Given the description of an element on the screen output the (x, y) to click on. 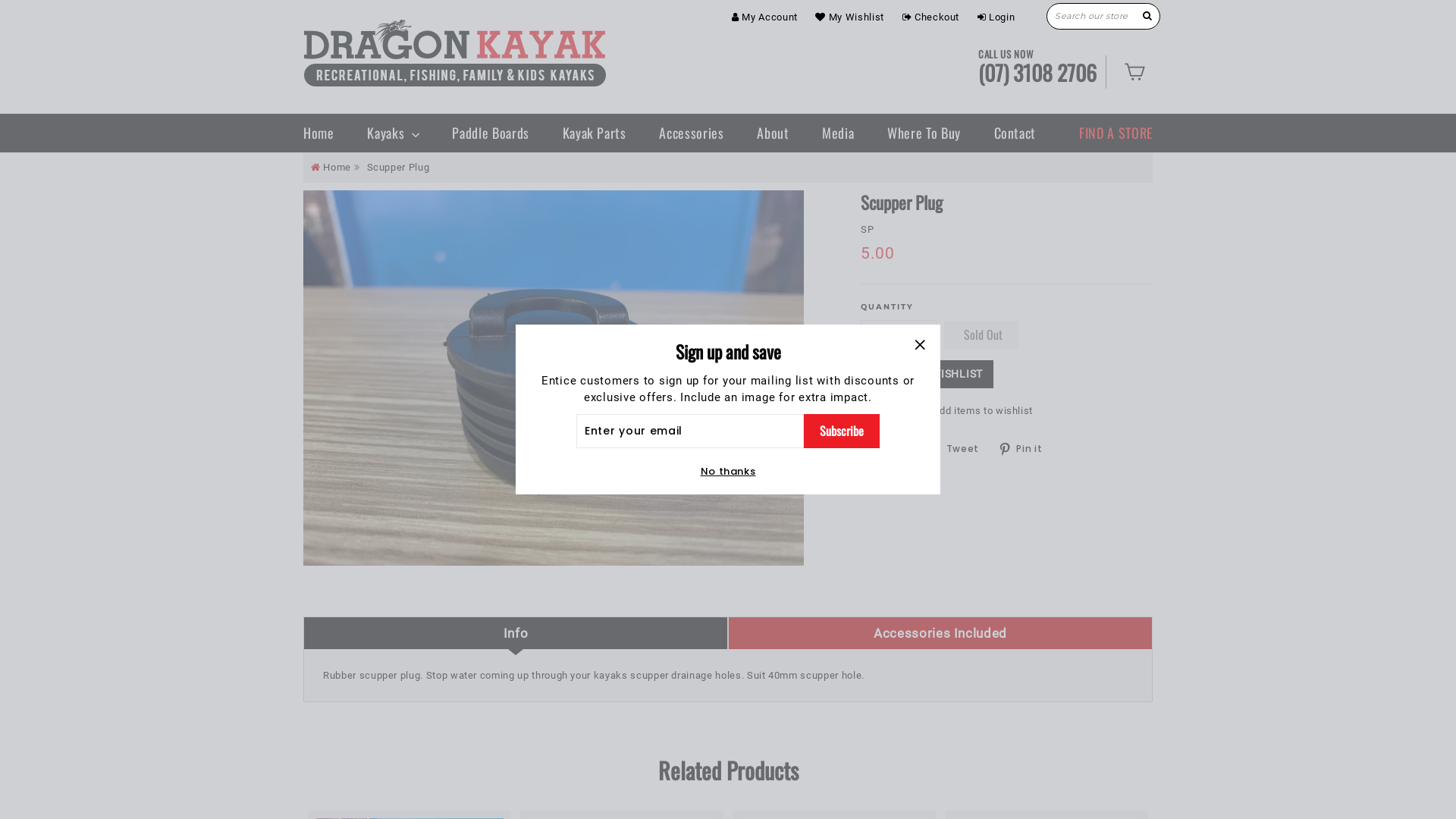
My Account
Log in Element type: text (764, 17)
Home Element type: text (326, 132)
Paddle Boards Element type: text (489, 132)
About Element type: text (772, 132)
Skip to content Element type: text (0, 0)
Search Element type: text (1147, 15)
Home Element type: text (330, 166)
Media Element type: text (837, 132)
Kayaks Element type: text (392, 132)
Tweet
Tweet on Twitter Element type: text (958, 448)
FIND A STORE Element type: text (1115, 132)
Subscribe Element type: text (841, 431)
login Element type: text (907, 410)
Share
Share on Facebook Element type: text (889, 448)
Accessories Element type: text (690, 132)
Info Element type: text (515, 632)
No thanks Element type: text (728, 471)
Contact Element type: text (1014, 132)
Pin it
Pin on Pinterest Element type: text (1025, 448)
Where To Buy Element type: text (923, 132)
My Wishlist
Log in Element type: text (849, 17)
Kayak Parts Element type: text (594, 132)
Login
Log in Element type: text (995, 17)
+ Element type: text (927, 334)
Sold Out Element type: text (981, 334)
Checkout
Log in Element type: text (930, 17)
Accessories Included Element type: text (940, 632)
